Given the description of an element on the screen output the (x, y) to click on. 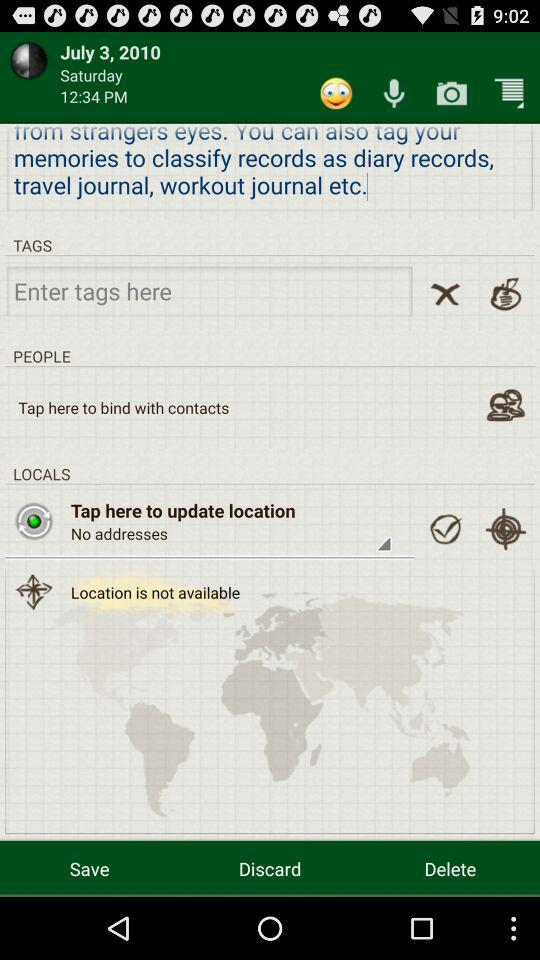
select location (445, 529)
